Given the description of an element on the screen output the (x, y) to click on. 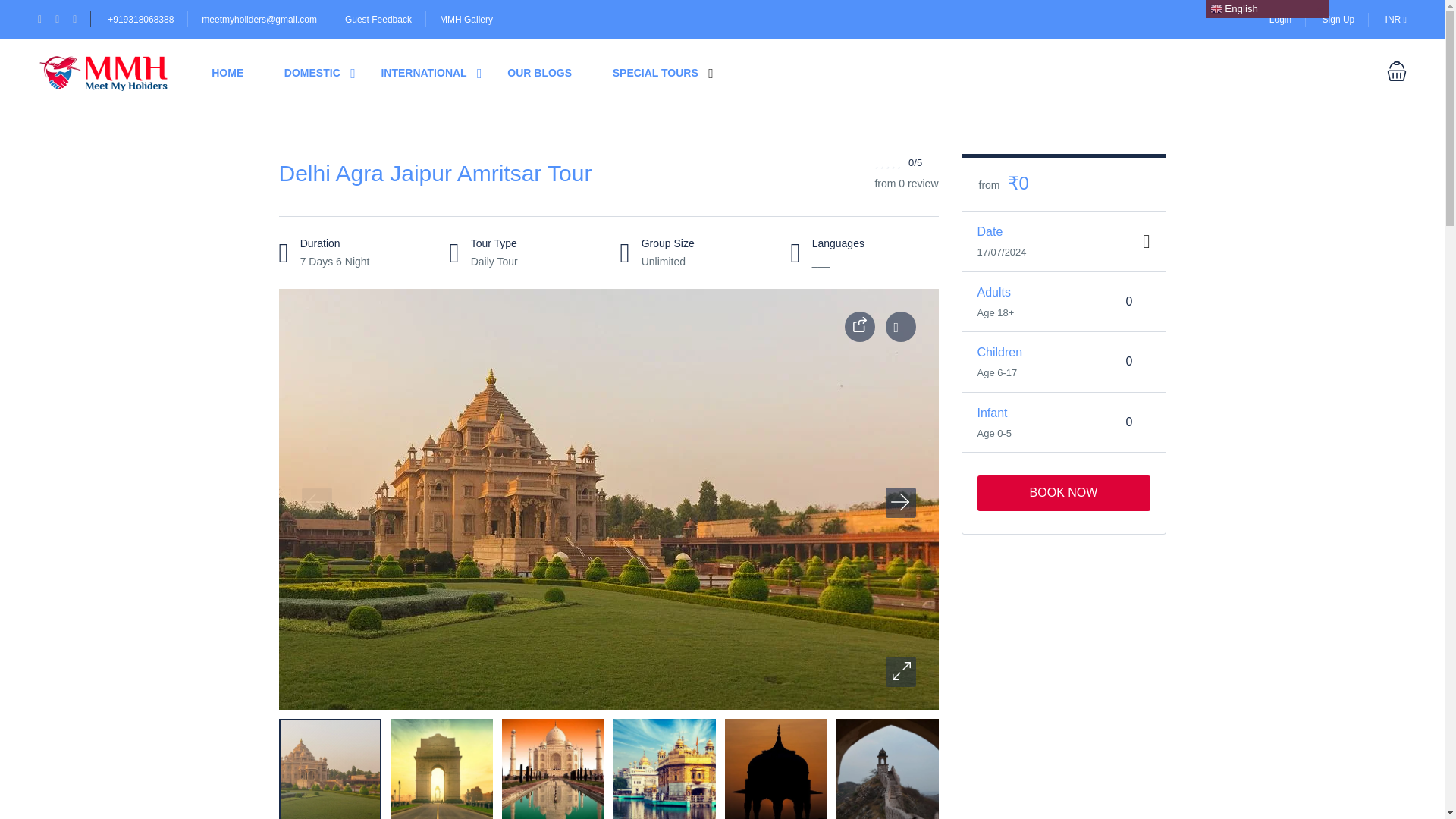
Guest Feedback (378, 19)
0 (1129, 301)
0 (1129, 361)
MMH Gallery (466, 19)
DOMESTIC (311, 72)
Login (1280, 18)
HOME (227, 72)
INR (1396, 18)
0 (1129, 421)
Sign Up (1338, 18)
